Given the description of an element on the screen output the (x, y) to click on. 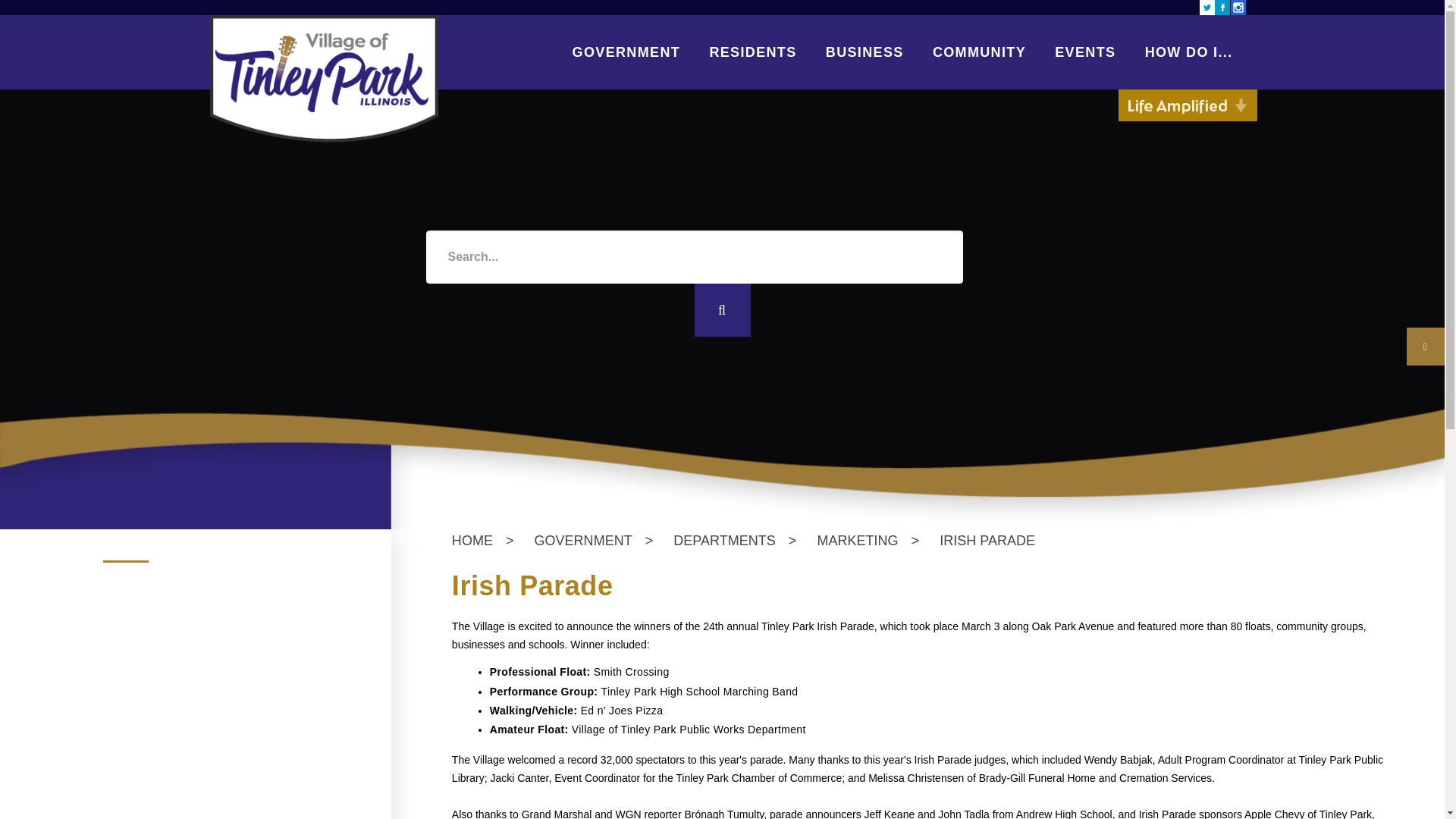
GOVERNMENT (626, 52)
